Given the description of an element on the screen output the (x, y) to click on. 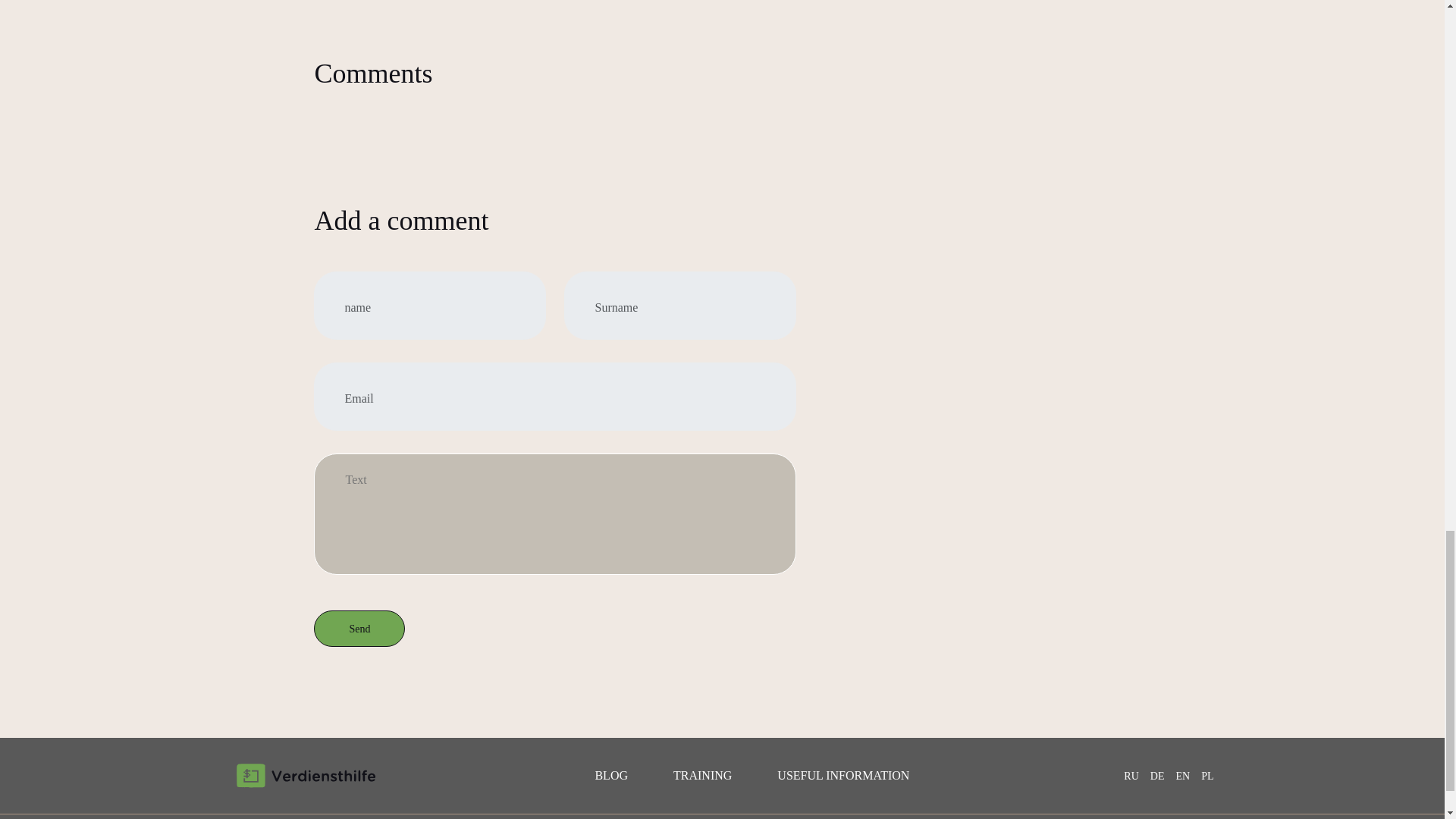
TRAINING (702, 775)
USEFUL INFORMATION (842, 775)
RU (1131, 776)
BLOG (610, 775)
Send (359, 628)
EN (1181, 776)
DE (1157, 776)
PL (1206, 776)
Send (359, 628)
